Given the description of an element on the screen output the (x, y) to click on. 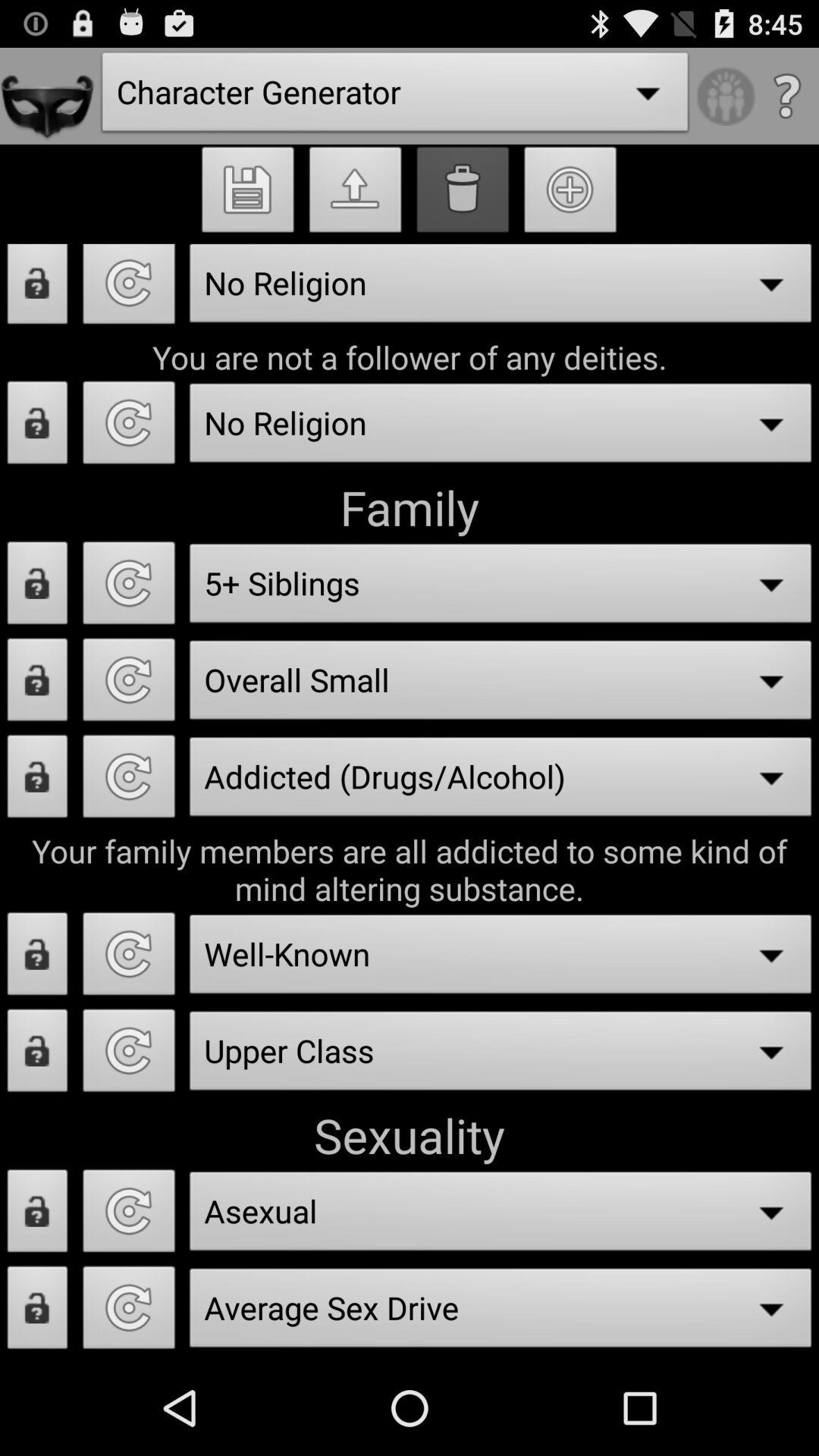
character select (129, 1311)
